Given the description of an element on the screen output the (x, y) to click on. 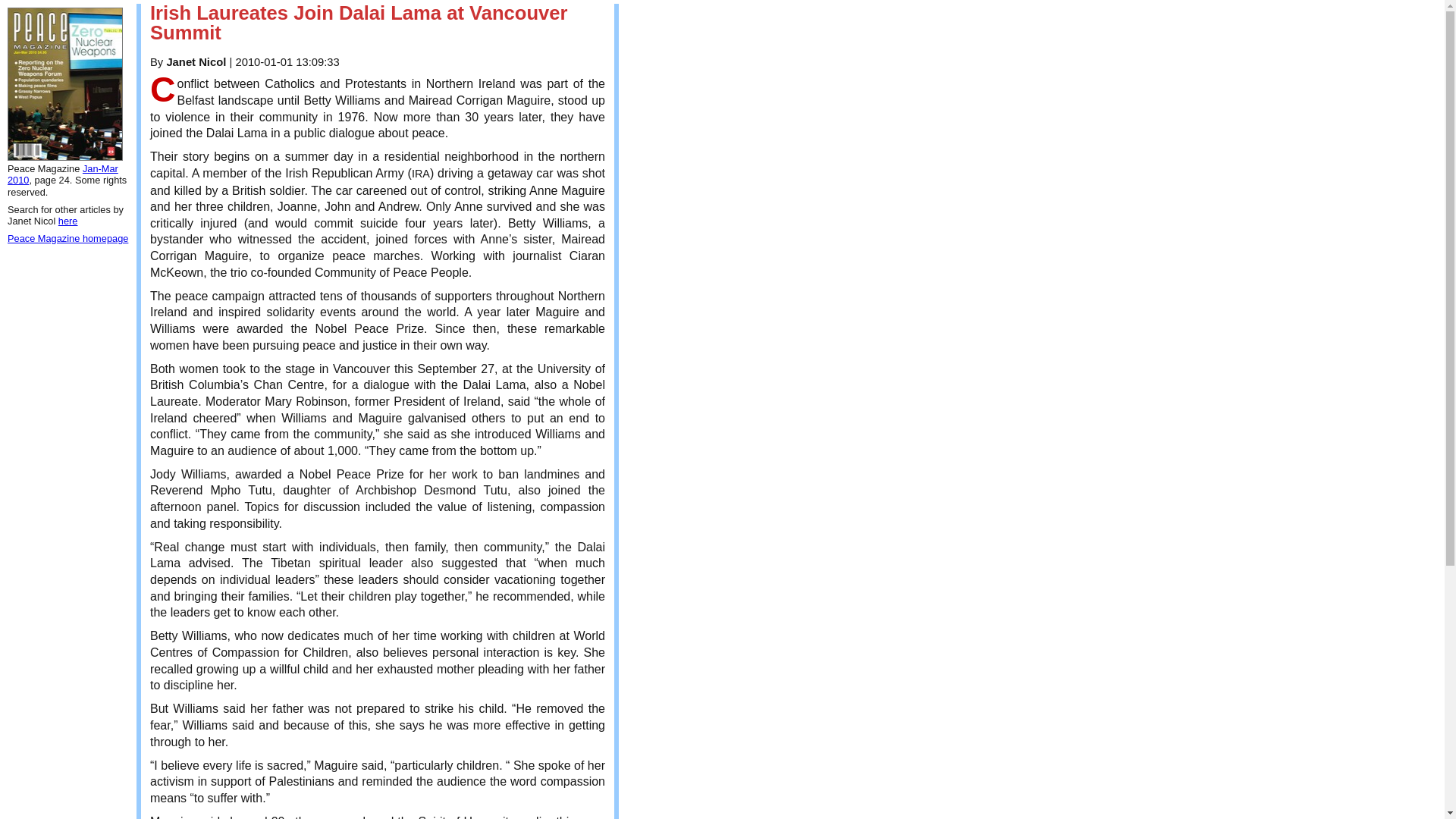
Peace Magazine homepage (67, 238)
here (68, 220)
Jan-Mar 2010 (62, 173)
